Given the description of an element on the screen output the (x, y) to click on. 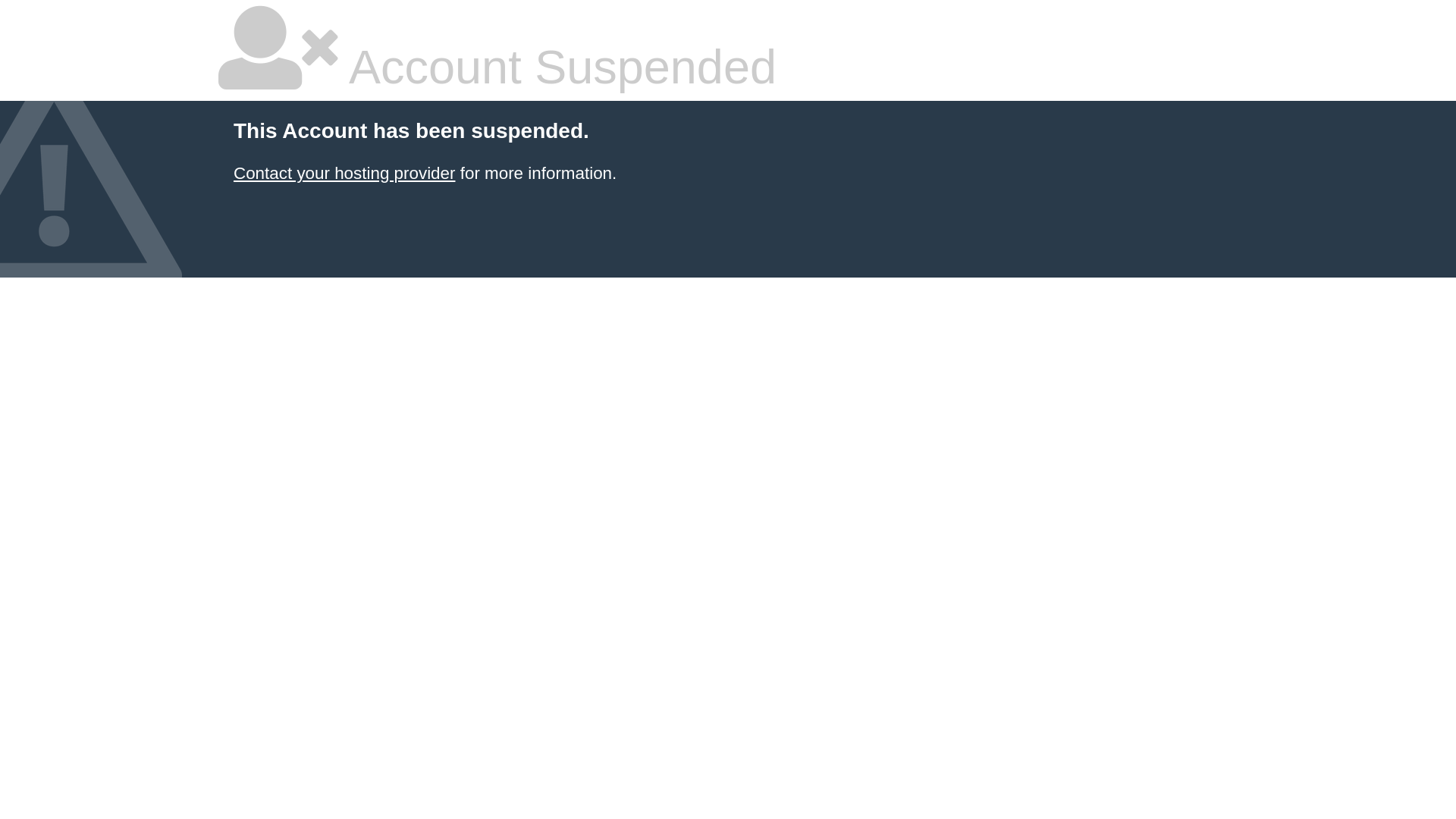
Contact your hosting provider Element type: text (344, 172)
